Given the description of an element on the screen output the (x, y) to click on. 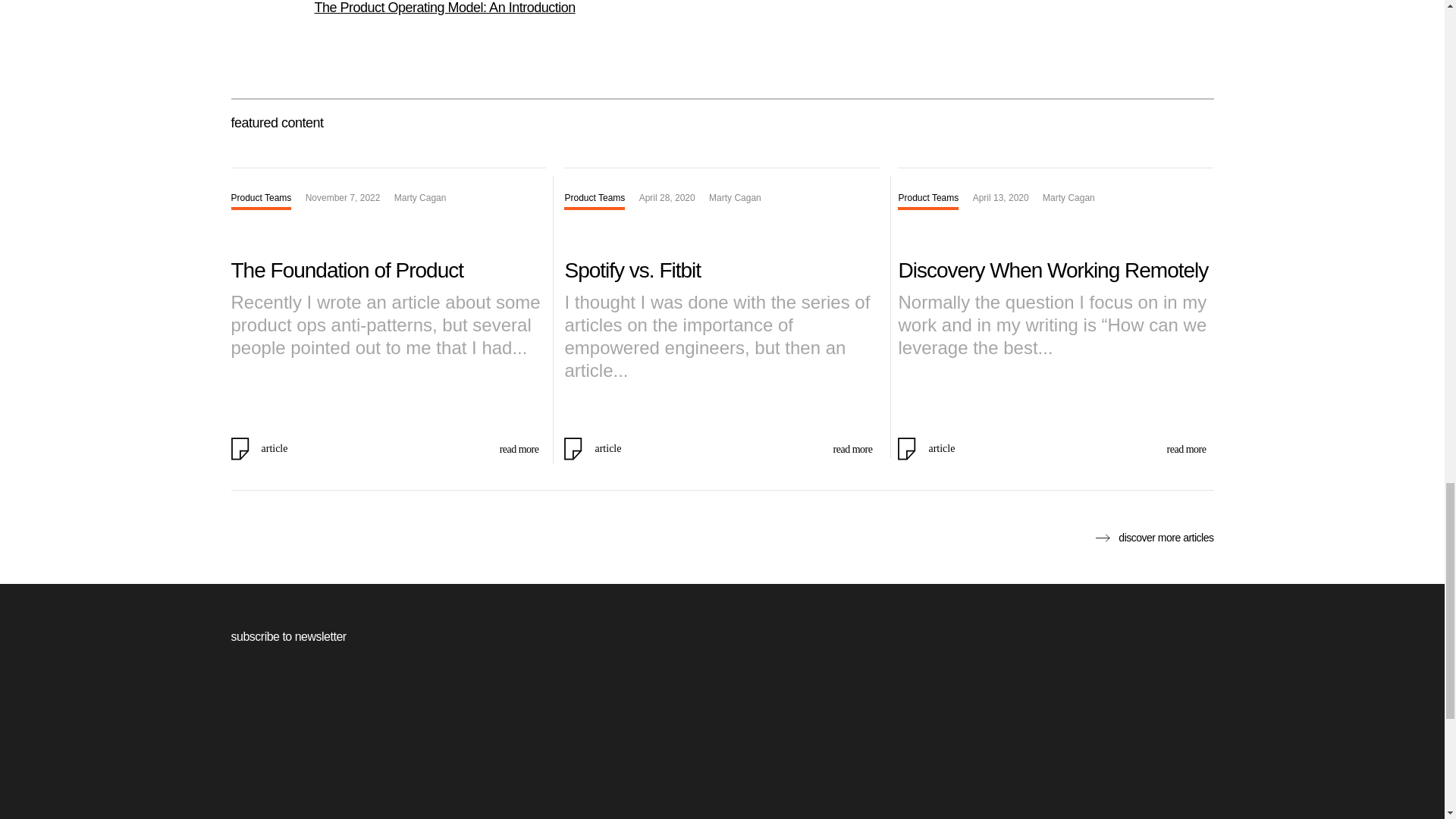
Spotify vs. Fitbit (632, 269)
Form 2 (721, 748)
Discovery When Working Remotely (1053, 269)
The Foundation of Product (346, 269)
